Given the description of an element on the screen output the (x, y) to click on. 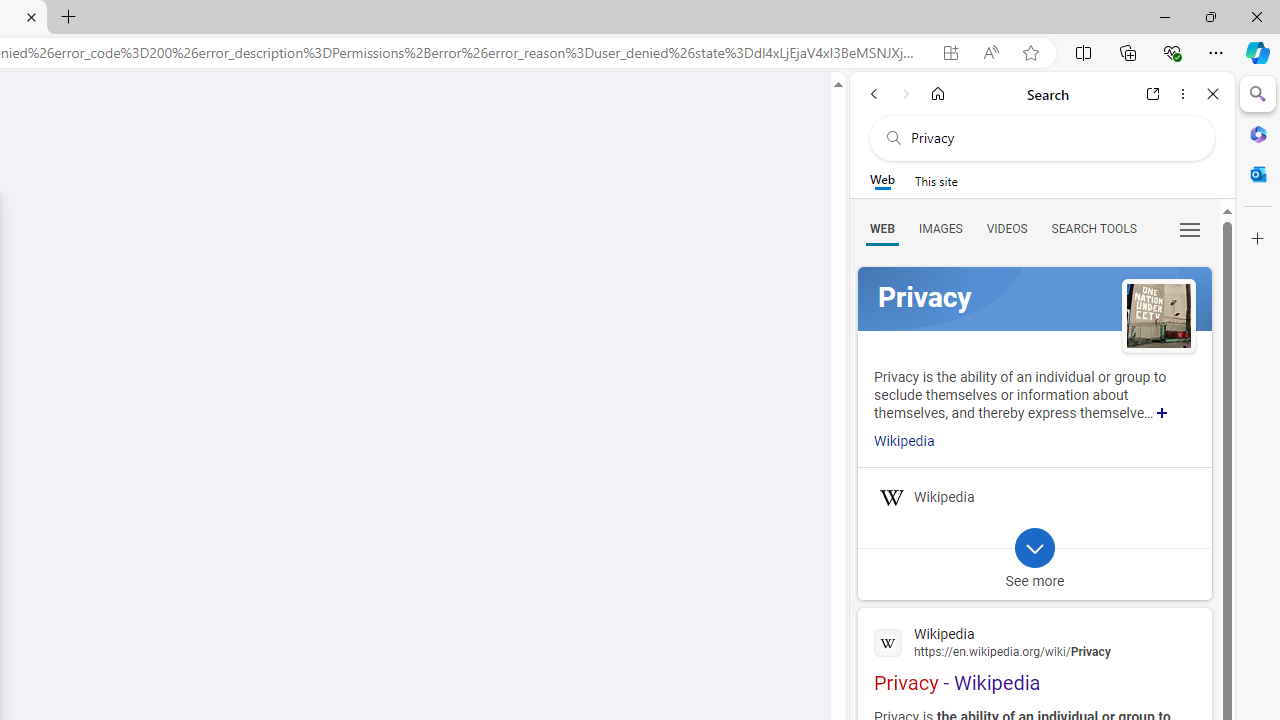
Wikipedia (1034, 641)
Search Filter, WEB (882, 228)
Class: b_serphb (1190, 229)
Global web icon (888, 642)
Class: b_exp_chevron_svg b_expmob_chev (1034, 547)
Search Filter, VIDEOS (1006, 228)
